Given the description of an element on the screen output the (x, y) to click on. 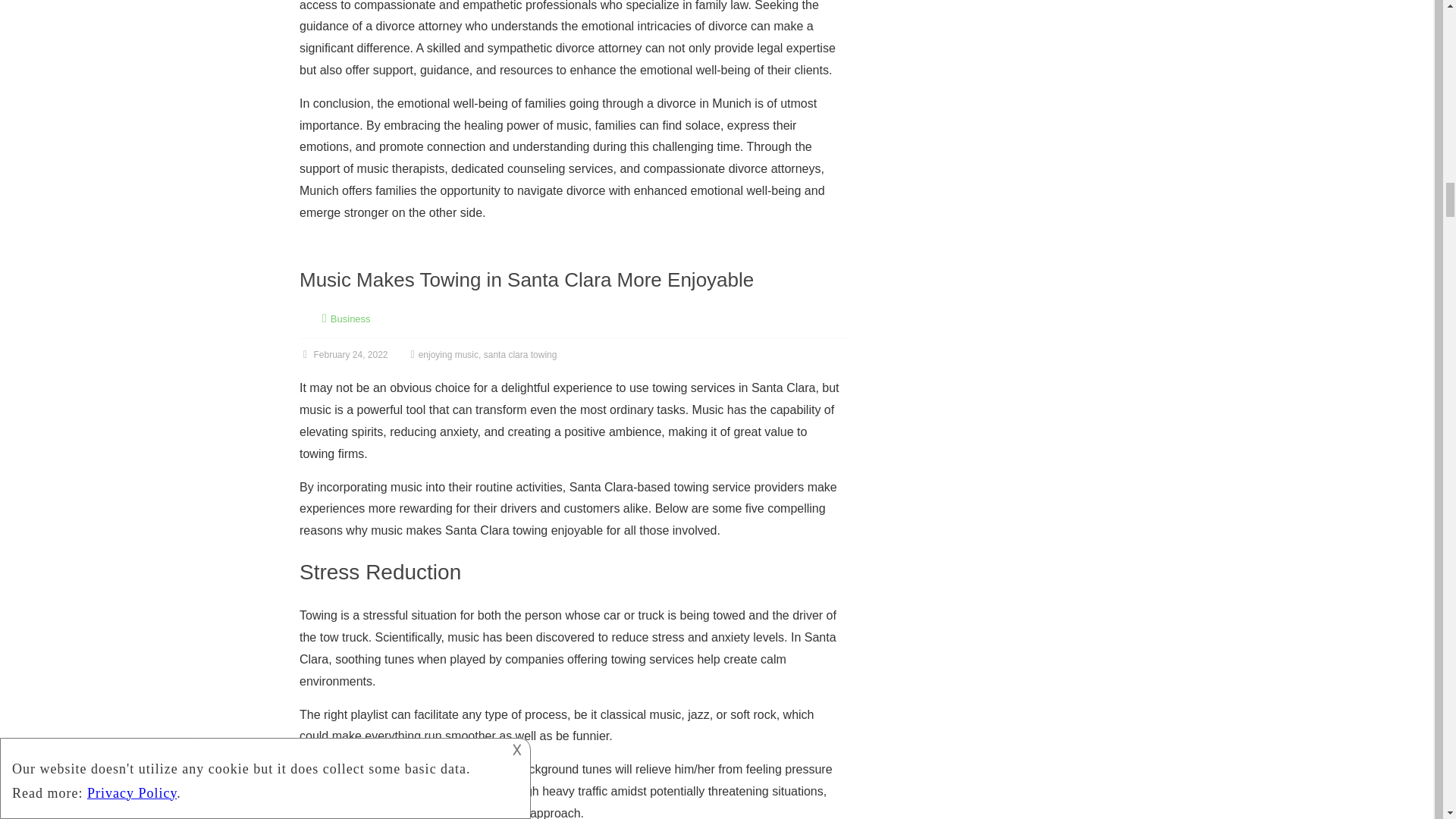
Music Makes Towing in Santa Clara More Enjoyable (526, 279)
11:45 am (343, 354)
Music Makes Towing in Santa Clara More Enjoyable (526, 279)
Business (350, 318)
February 24, 2022 (343, 354)
santa clara towing (520, 354)
enjoying music (449, 354)
